Given the description of an element on the screen output the (x, y) to click on. 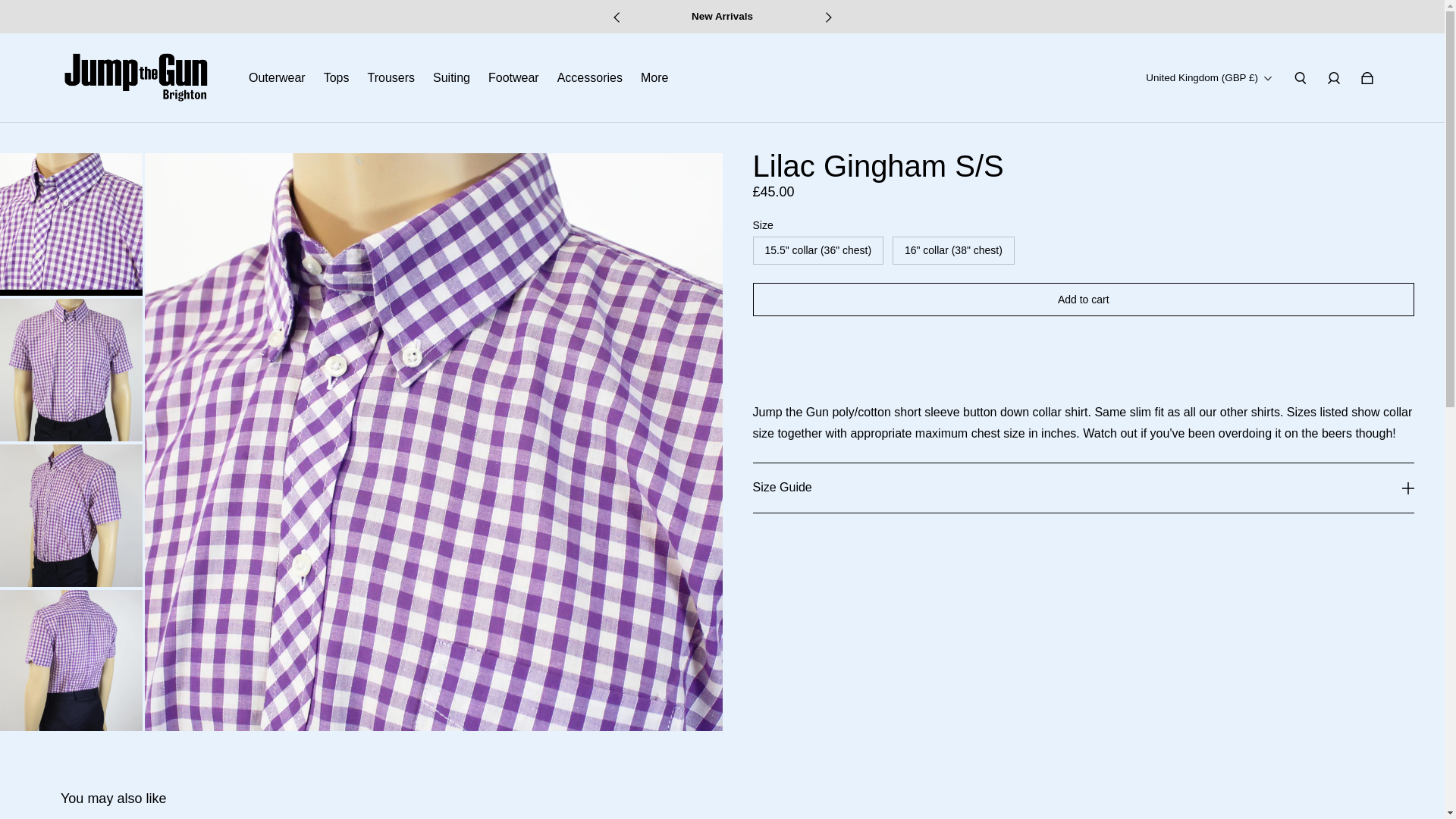
Outerwear (276, 78)
Tops (336, 78)
New Arrivals (721, 16)
